Given the description of an element on the screen output the (x, y) to click on. 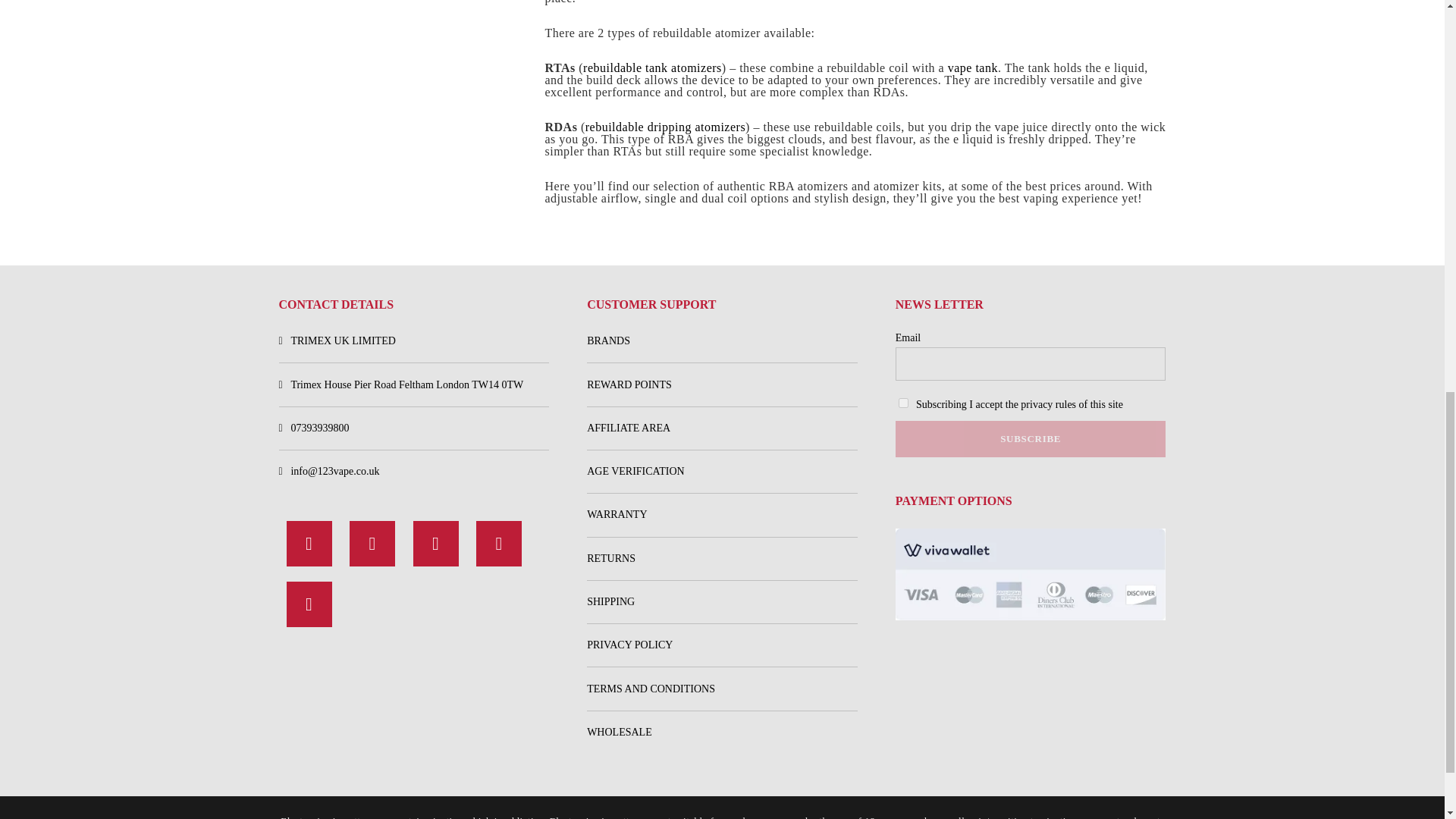
on (903, 402)
Subscribe (1030, 438)
